Given the description of an element on the screen output the (x, y) to click on. 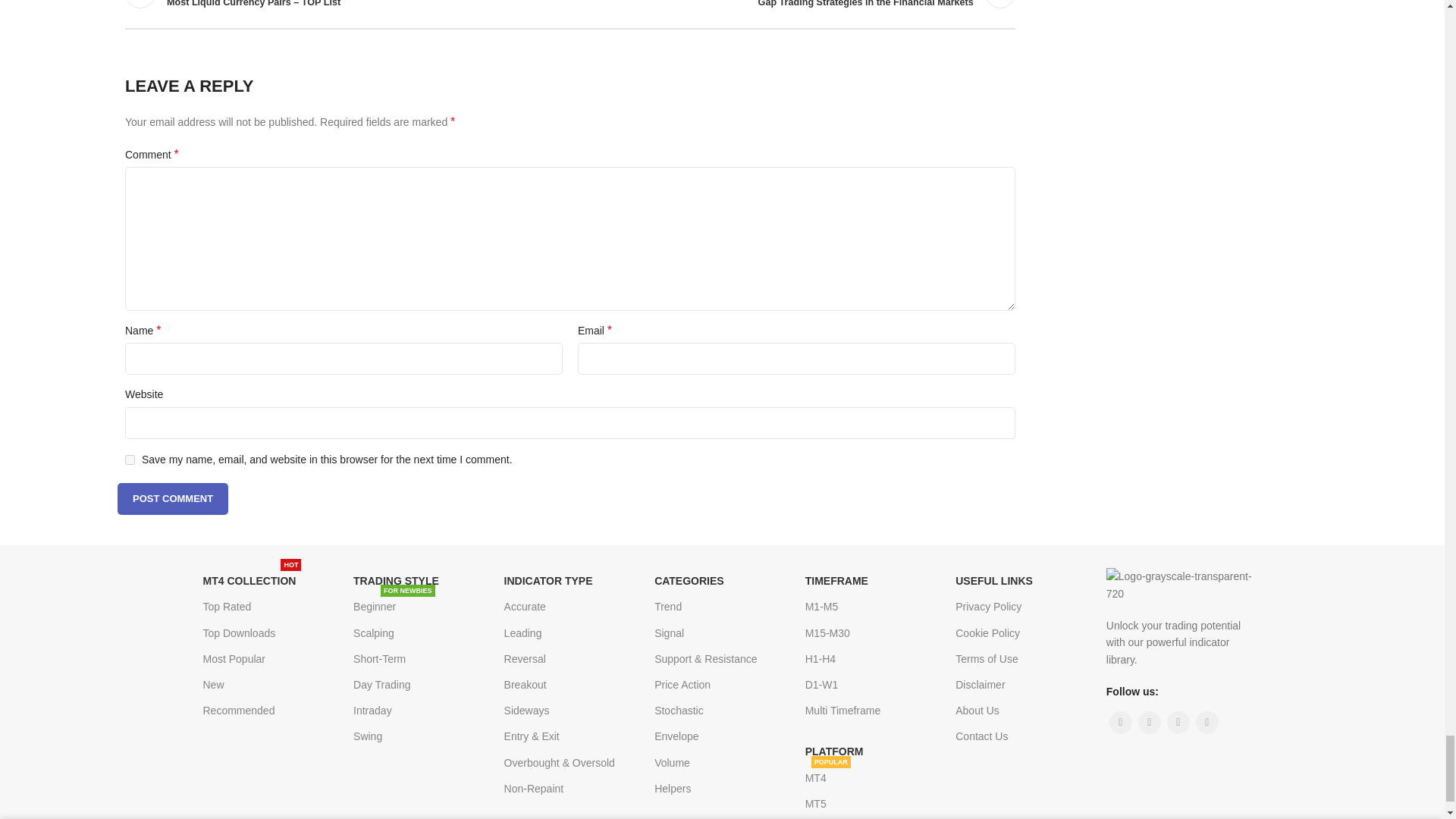
yes (130, 460)
Post Comment (172, 499)
Logo-grayscale-transparent-720 (1181, 584)
